Given the description of an element on the screen output the (x, y) to click on. 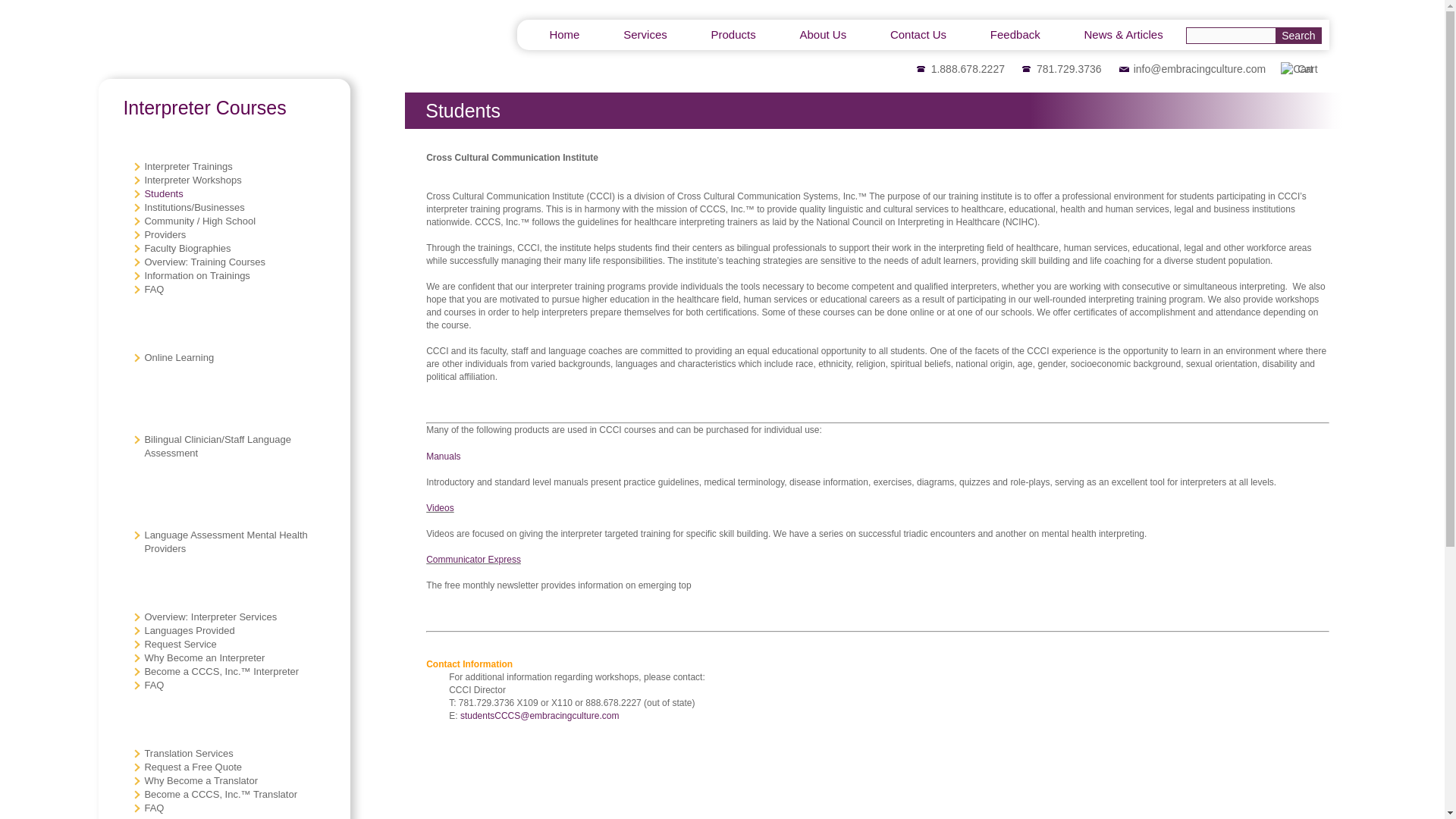
Phone (921, 69)
About Us (822, 34)
CCCS (187, 39)
Cart (1297, 69)
Search (1297, 35)
CCCS (187, 39)
Feedback (1015, 34)
Products (733, 34)
Contact Us (917, 34)
Email (1123, 69)
